Given the description of an element on the screen output the (x, y) to click on. 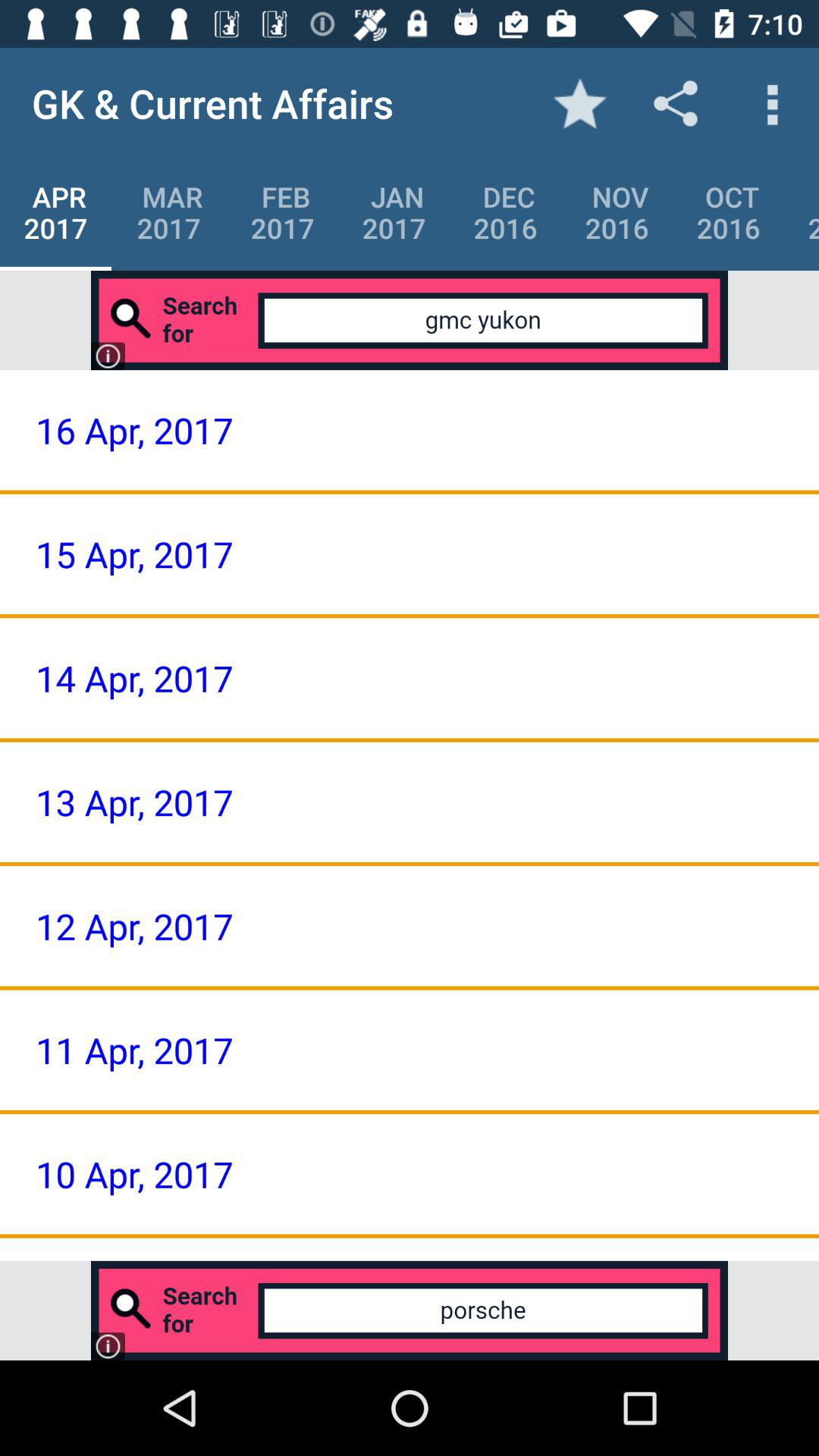
search bar (409, 320)
